Given the description of an element on the screen output the (x, y) to click on. 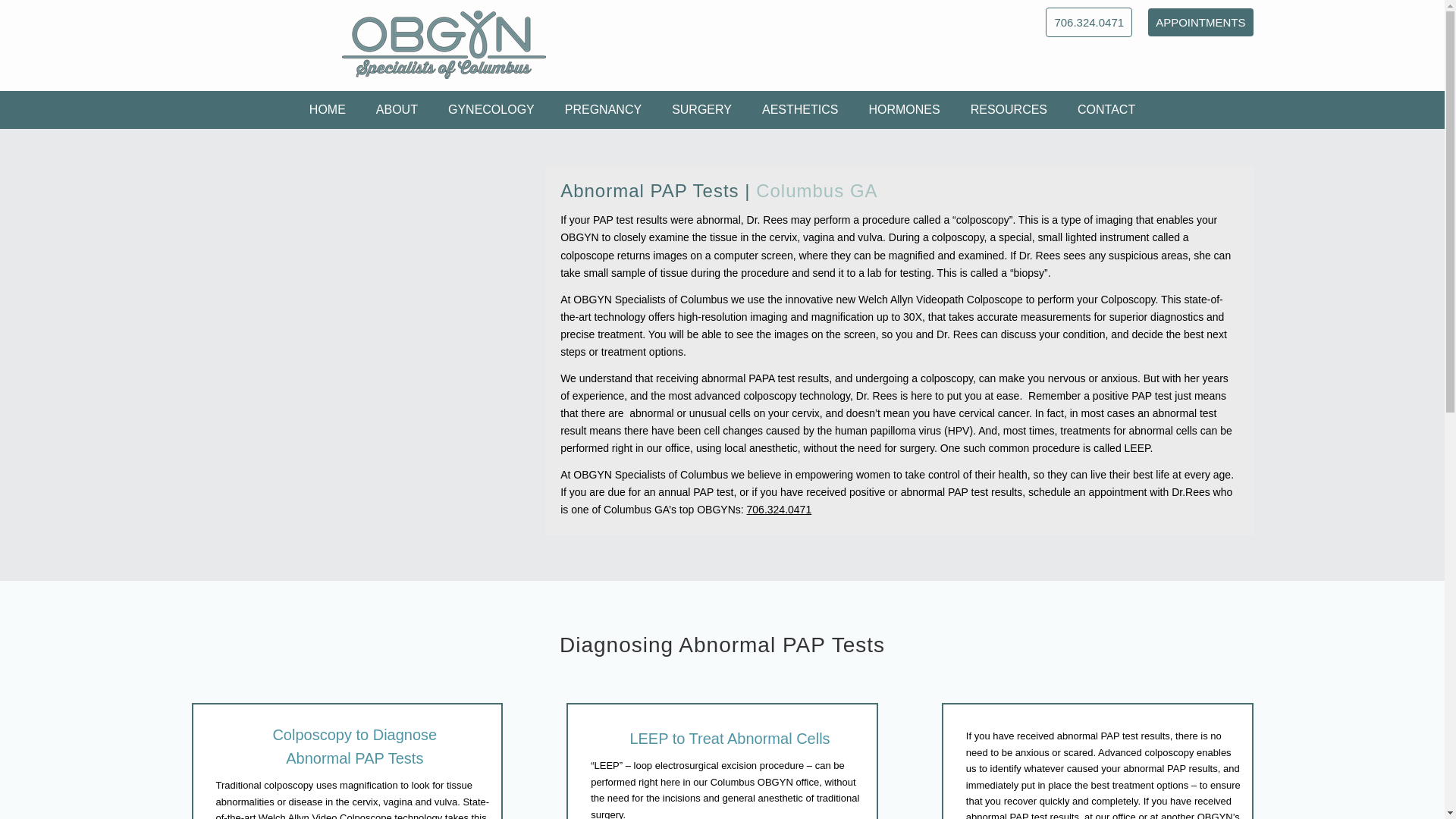
HOME (327, 109)
706.324.0471 (1088, 21)
AESTHETICS (799, 109)
HORMONES (904, 109)
RESOURCES (1008, 109)
SURGERY (701, 109)
GYNECOLOGY (491, 109)
ABOUT (396, 109)
APPOINTMENTS (1200, 22)
PREGNANCY (603, 109)
